Given the description of an element on the screen output the (x, y) to click on. 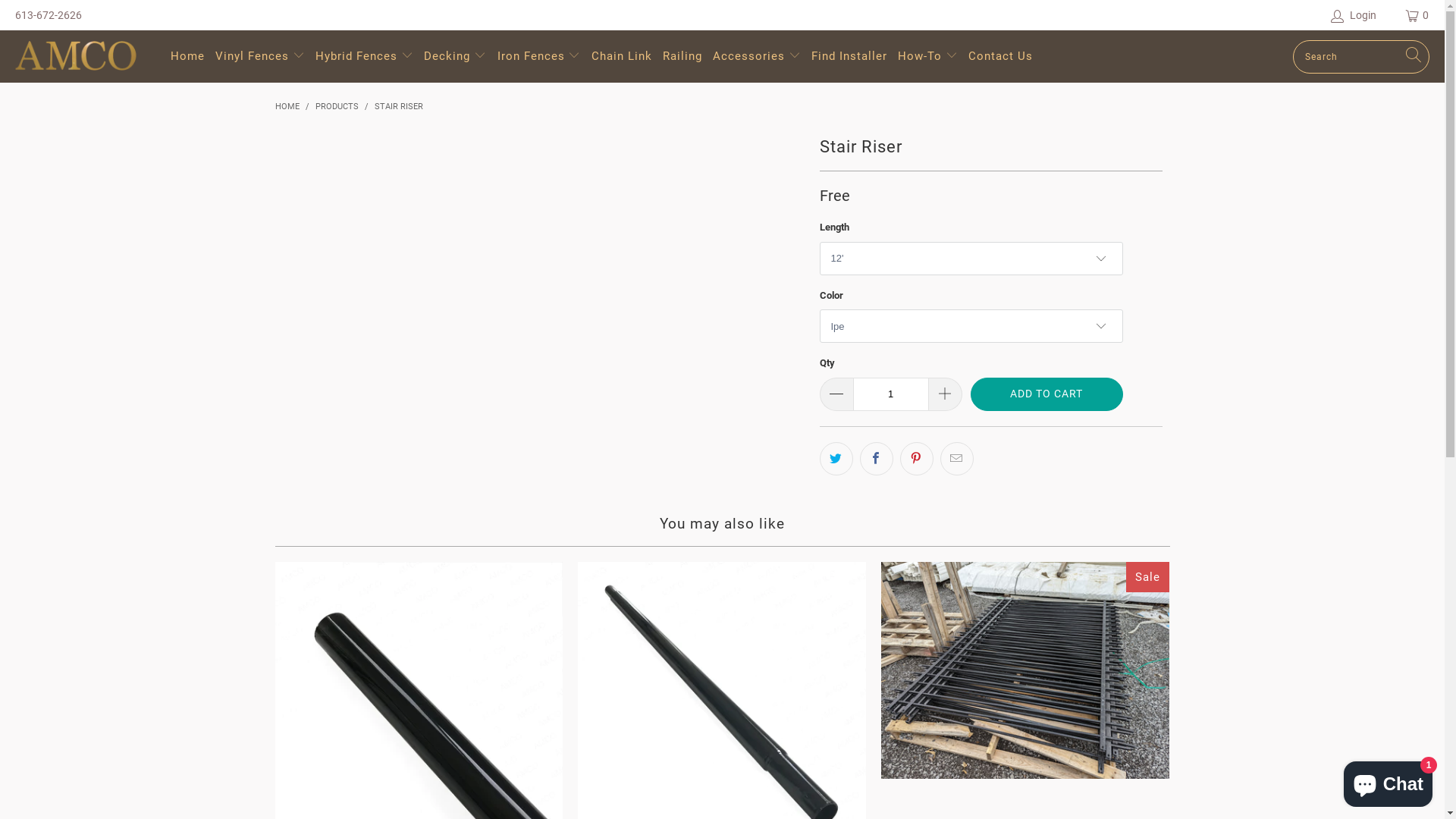
Amco Fencing And Decks Inc. Element type: hover (85, 55)
Chain Link Element type: text (621, 56)
Shopify online store chat Element type: hover (1388, 780)
Share this on Pinterest Element type: hover (915, 457)
Decking Element type: text (454, 55)
PRODUCTS Element type: text (336, 106)
Hybrid Fences Element type: text (364, 55)
Email this to a friend Element type: hover (956, 457)
Find Installer Element type: text (849, 56)
Share this on Facebook Element type: hover (876, 457)
Vinyl Fences Element type: text (259, 55)
613-672-2626 Element type: text (48, 15)
ADD TO CART Element type: text (1046, 394)
Iron Fences Element type: text (538, 55)
Contact Us Element type: text (1000, 56)
Share this on Twitter Element type: hover (835, 457)
0 Element type: text (1417, 15)
How-To Element type: text (927, 55)
Accessories Element type: text (756, 55)
Home Element type: text (187, 56)
STAIR RISER Element type: text (398, 106)
Railing Element type: text (682, 56)
HOME Element type: text (286, 106)
Login Element type: text (1354, 15)
